Given the description of an element on the screen output the (x, y) to click on. 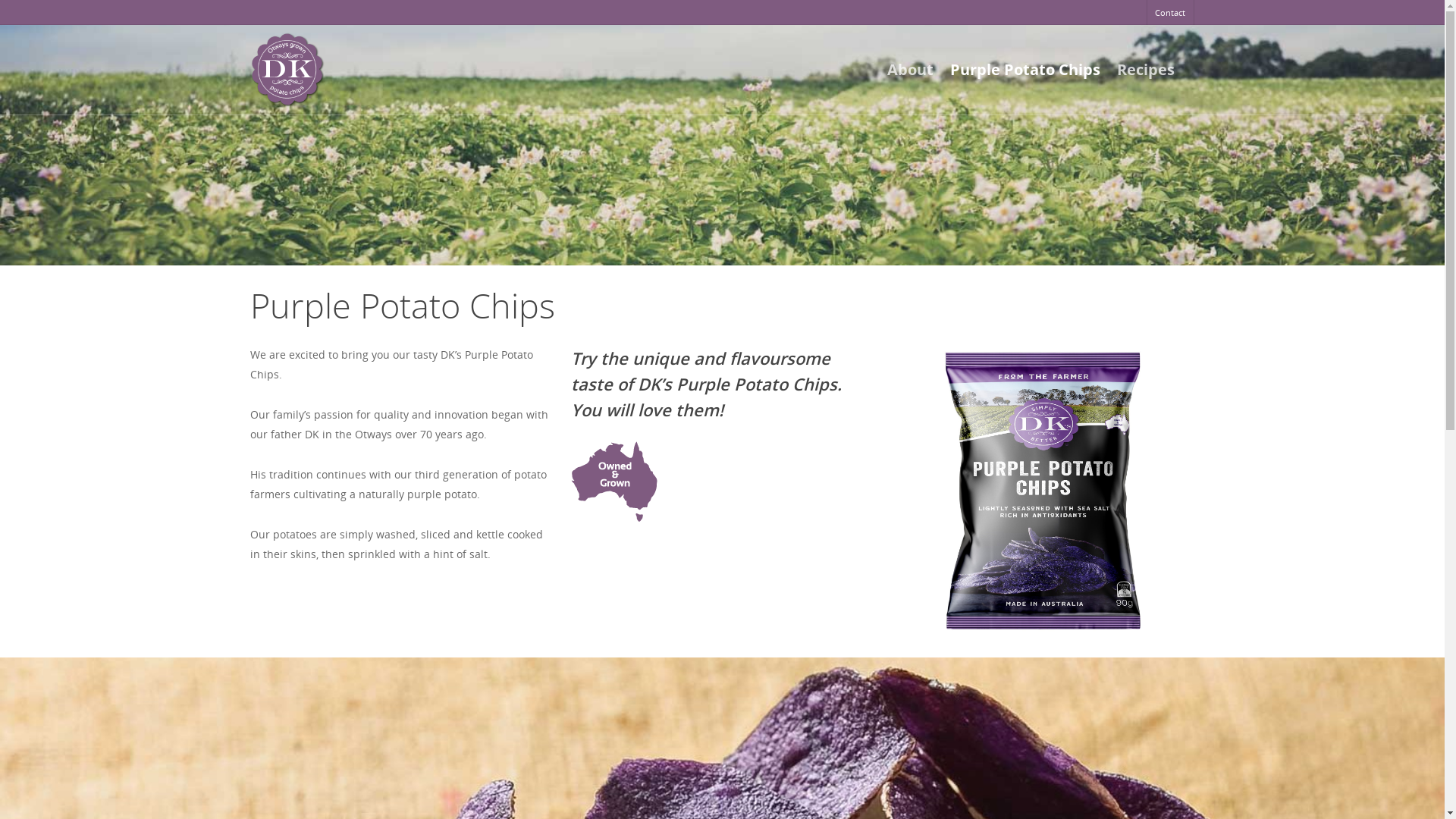
Contact Element type: text (1169, 12)
About Element type: text (910, 73)
Recipes Element type: text (1145, 73)
Purple Potato Chips Element type: text (1024, 73)
